Given the description of an element on the screen output the (x, y) to click on. 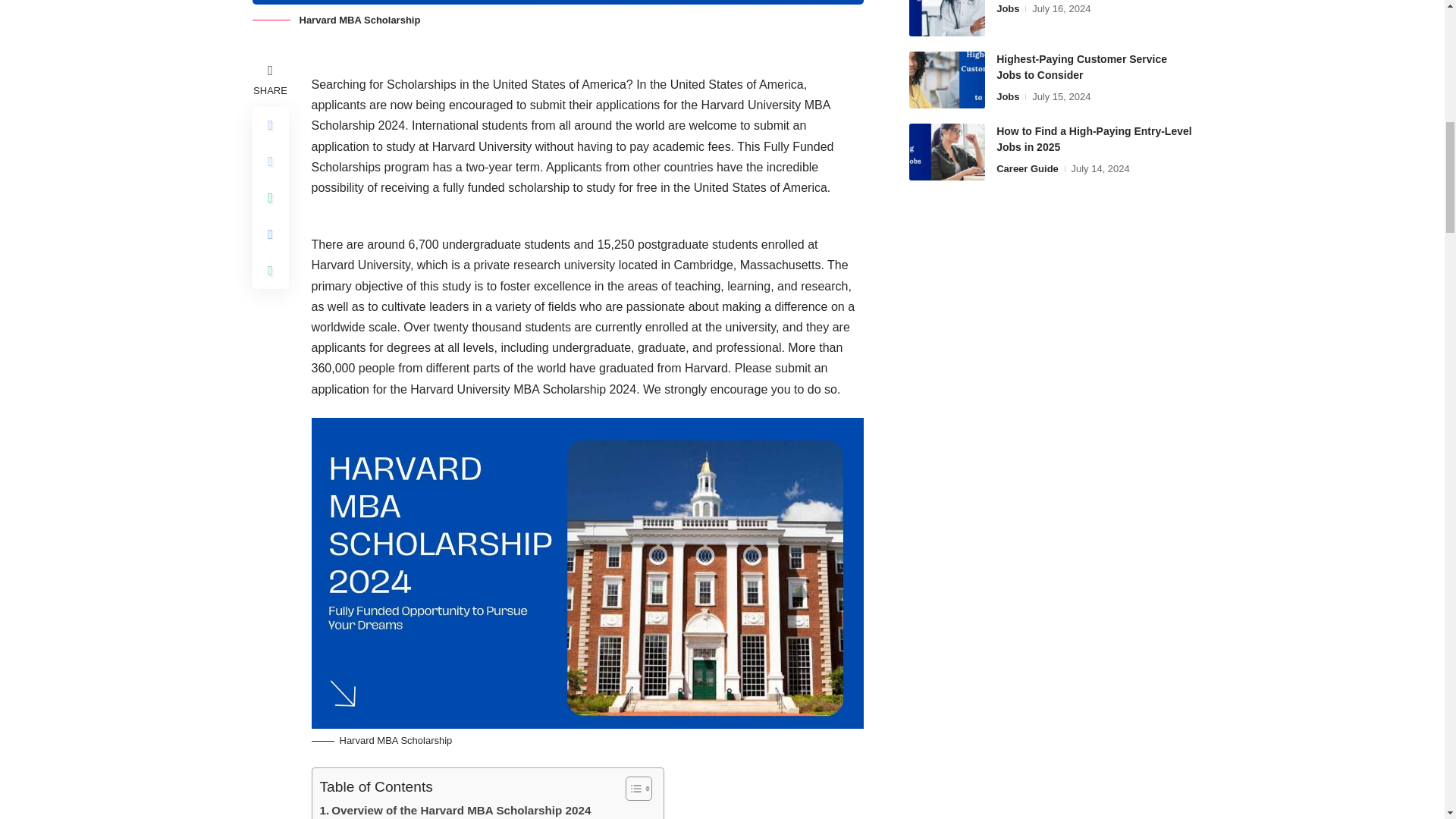
Overview of the Harvard MBA Scholarship 2024 (455, 810)
